Given the description of an element on the screen output the (x, y) to click on. 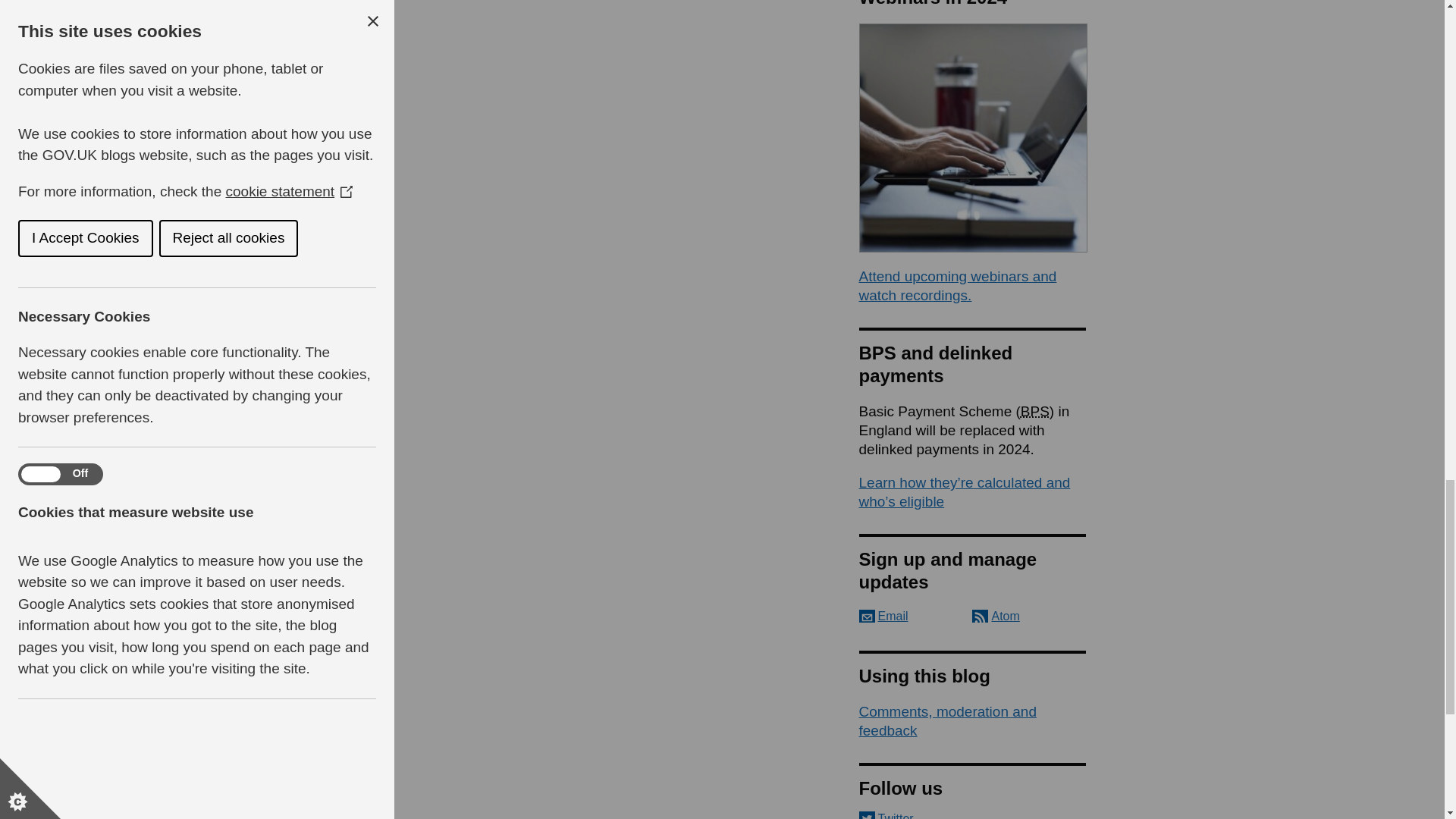
Comments, moderation and feedback (947, 720)
Attend upcoming webinars and watch recordings. (958, 285)
Atom (995, 615)
Email (883, 615)
Basic Payment Scheme (1034, 411)
Twitter (972, 815)
